Given the description of an element on the screen output the (x, y) to click on. 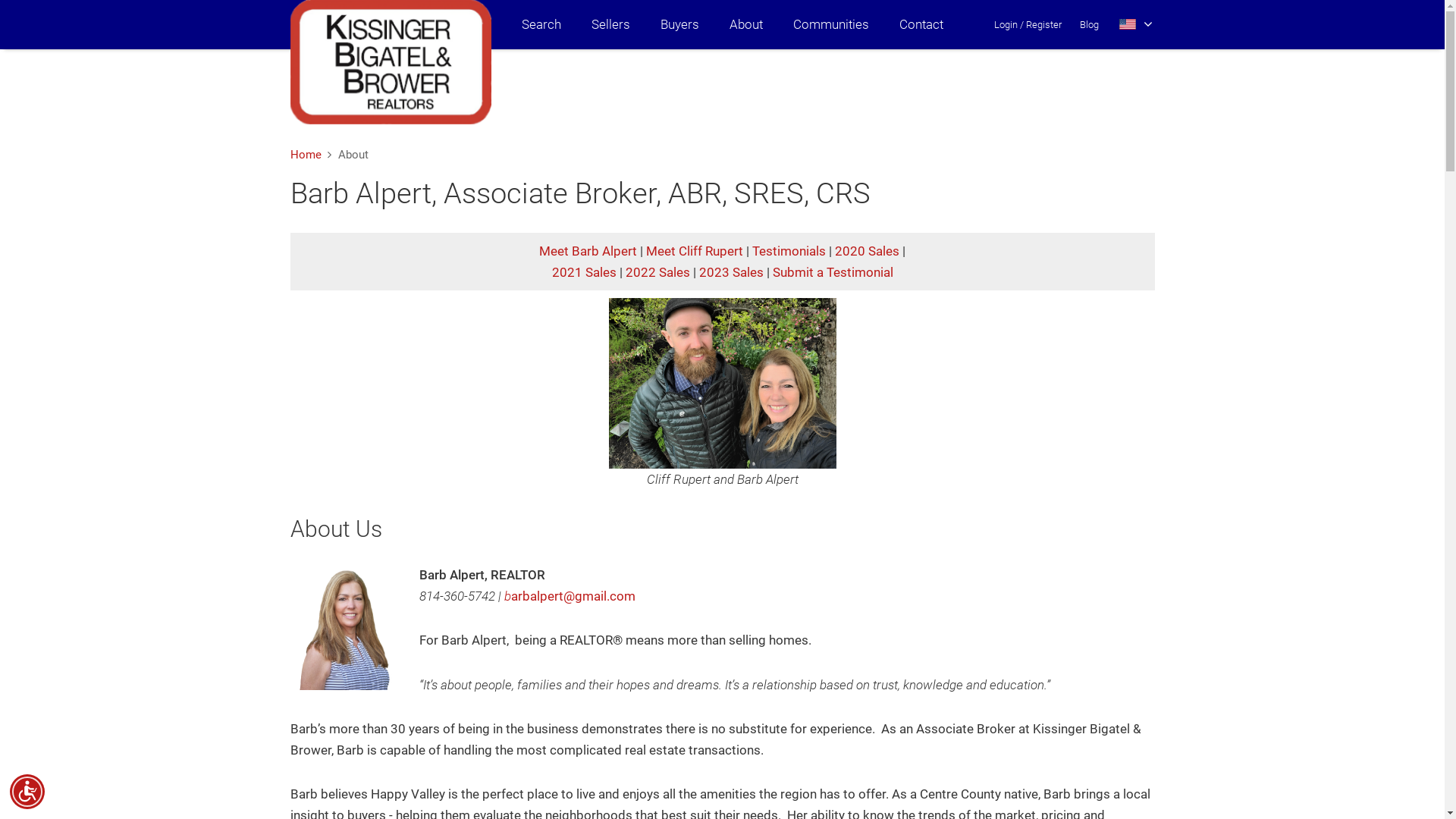
Sellers Element type: text (610, 24)
barbalpert@gmail.com Element type: text (568, 595)
Login/ Element type: text (1009, 24)
2020 Sales Element type: text (866, 250)
About Element type: text (746, 24)
2022 Sales Element type: text (656, 271)
Select Language Element type: hover (1135, 24)
Home Element type: text (304, 154)
Photo of Barb Alpert Element type: hover (346, 628)
Meet Cliff Rupert Element type: text (694, 250)
Communities Element type: text (831, 24)
2023 Sales Element type: text (731, 271)
Submit a Testimonial Element type: text (831, 271)
Search Element type: text (541, 24)
2021 Sales Element type: text (584, 271)
Blog Element type: text (1088, 24)
Contact Element type: text (921, 24)
Barb Alpert & Cliff Rupert Element type: hover (721, 383)
Register Element type: text (1042, 24)
Meet Barb Alpert Element type: text (588, 250)
Buyers Element type: text (678, 24)
Testimonials Element type: text (788, 250)
